Given the description of an element on the screen output the (x, y) to click on. 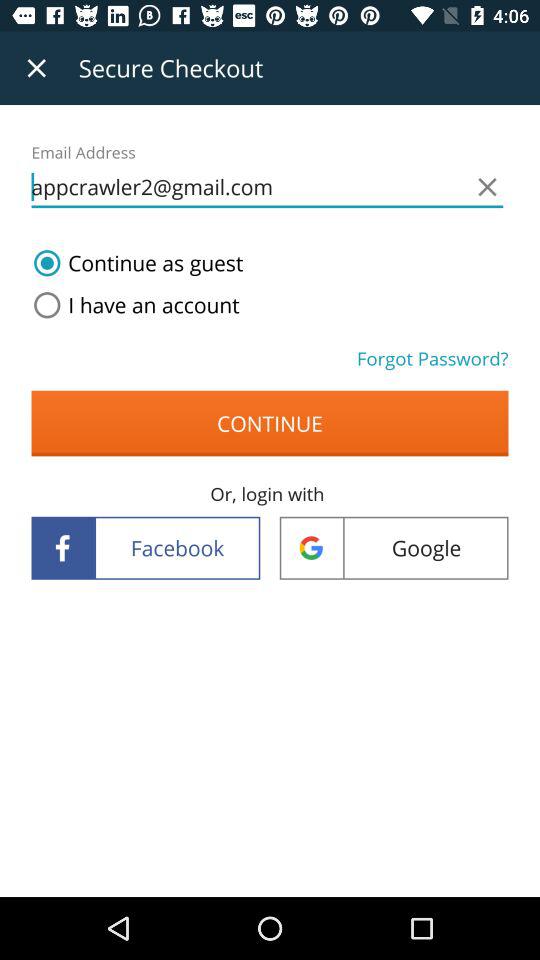
turn off the item above continue item (132, 305)
